Given the description of an element on the screen output the (x, y) to click on. 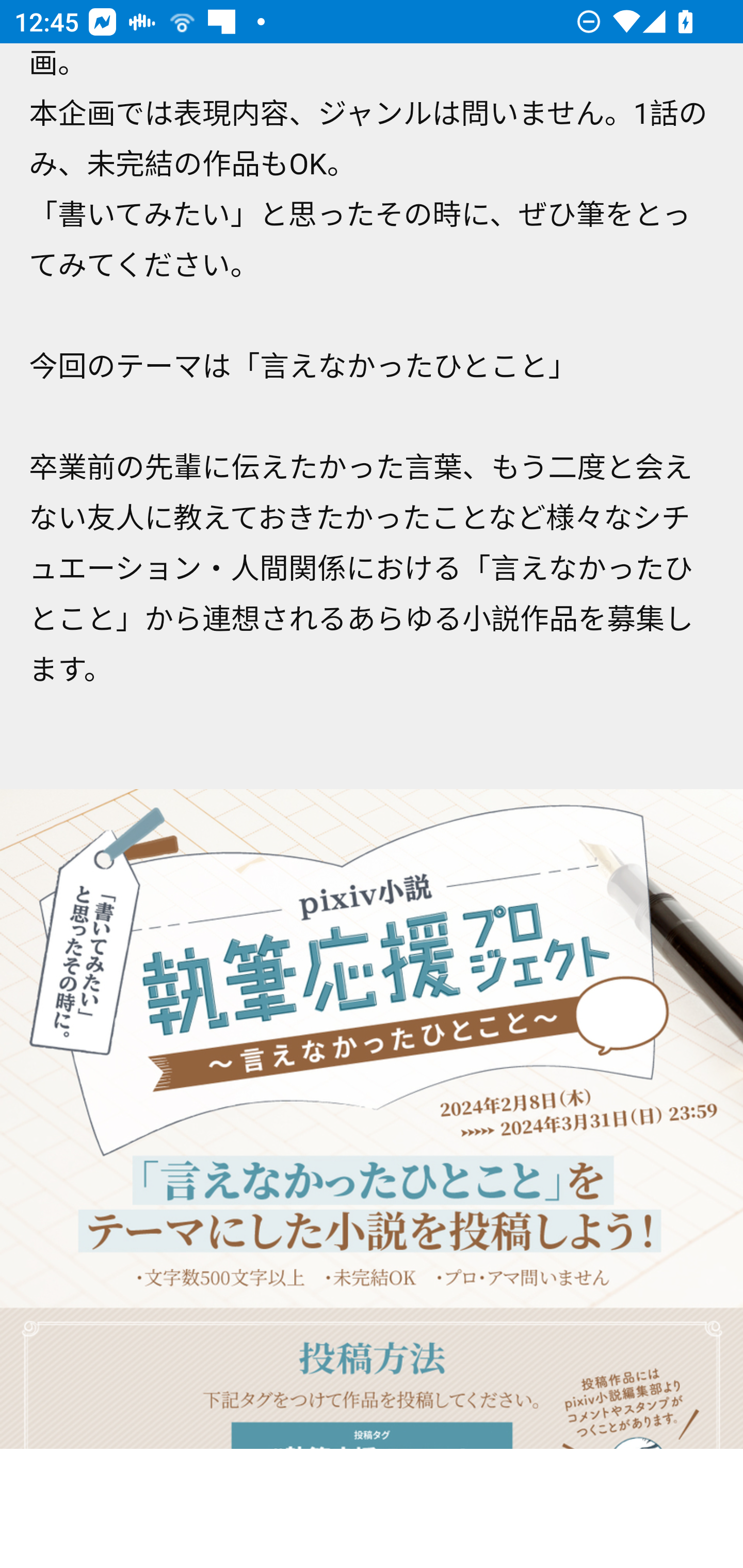
小説企画「執筆応援プロジェクト～言えなかったひとこと～」開催 (371, 1119)
